Given the description of an element on the screen output the (x, y) to click on. 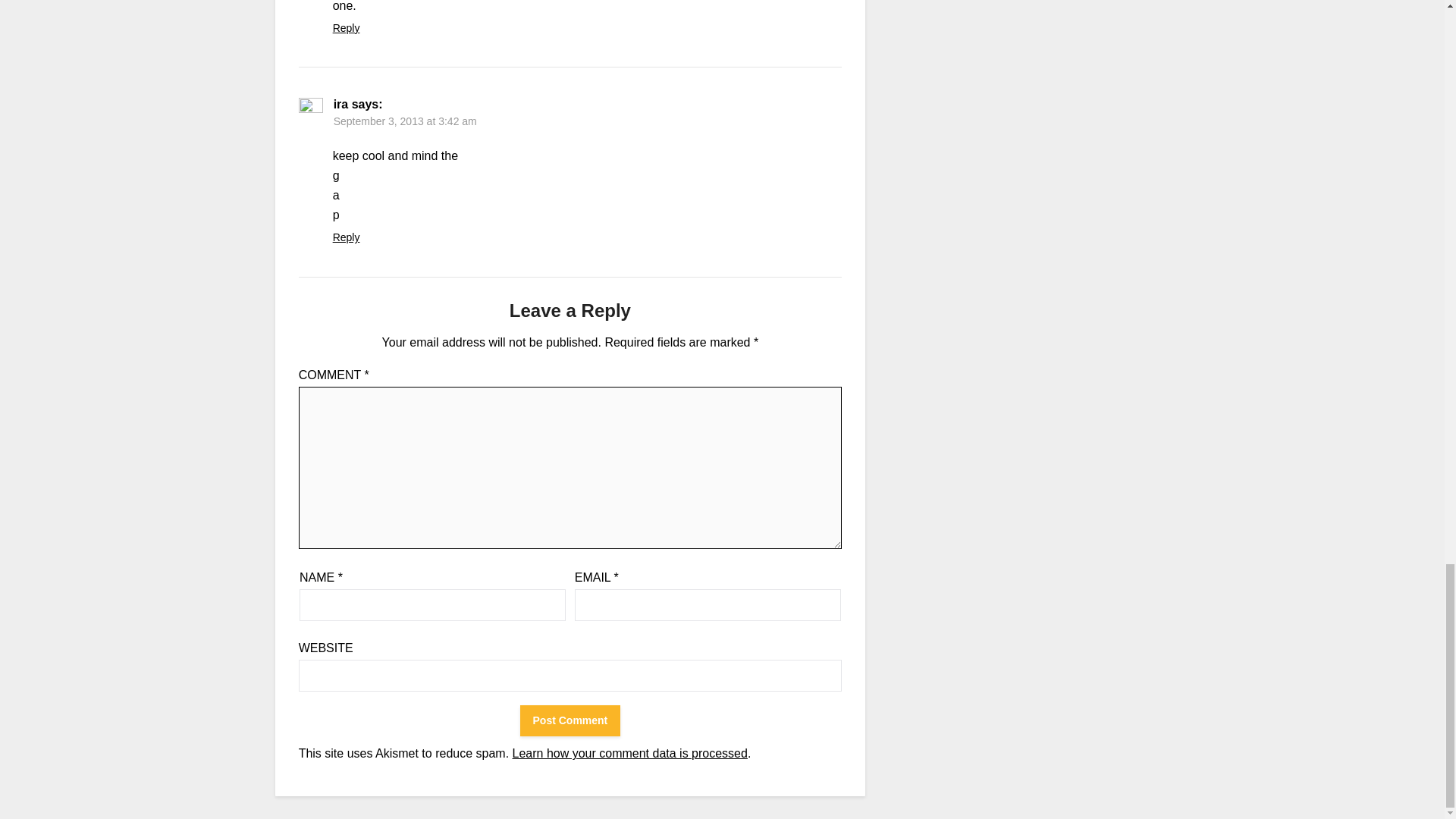
Reply (346, 236)
September 3, 2013 at 3:42 am (405, 121)
Post Comment (570, 720)
Post Comment (570, 720)
Reply (346, 28)
Learn how your comment data is processed (630, 753)
